Given the description of an element on the screen output the (x, y) to click on. 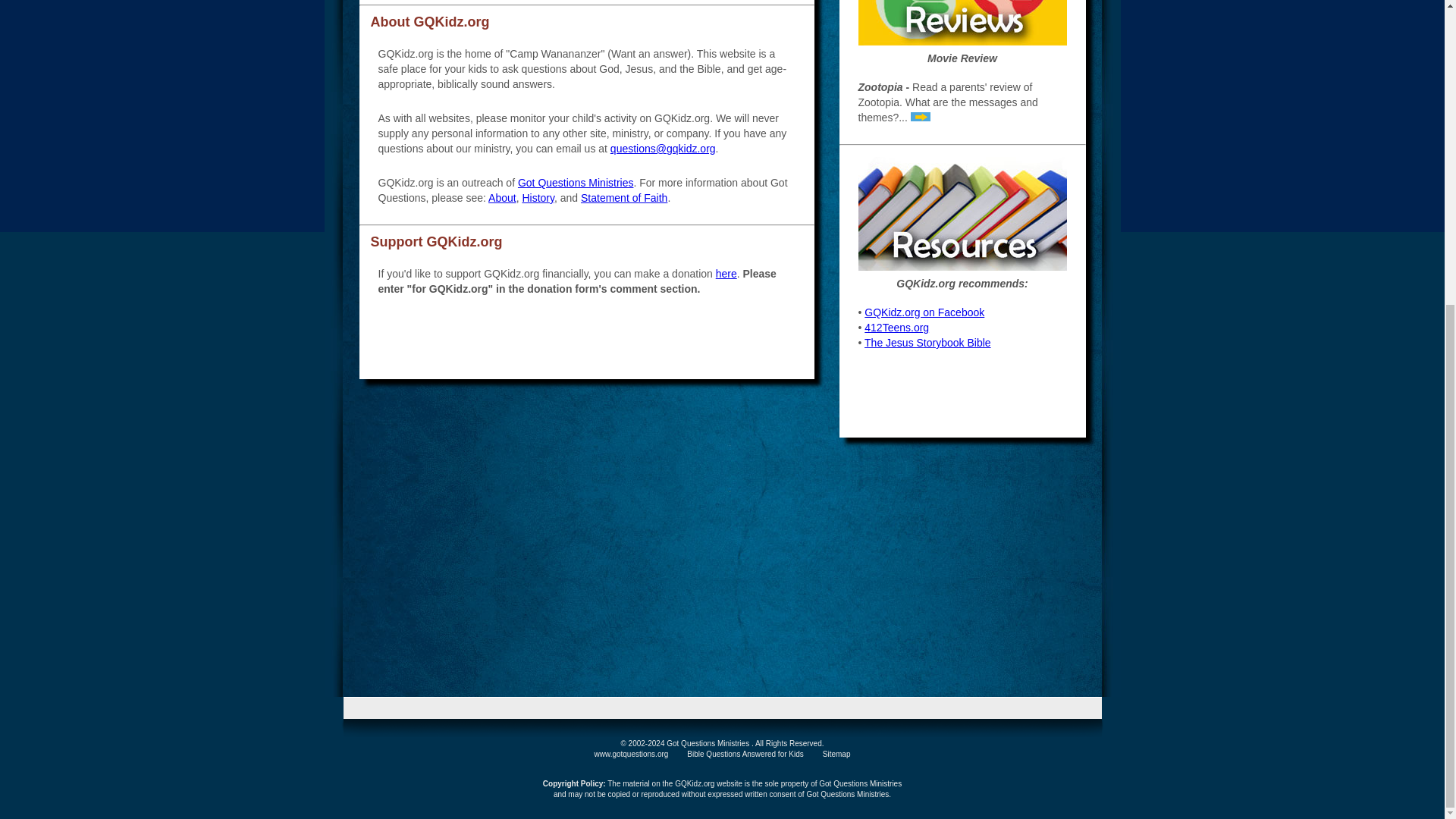
The Jesus Storybook Bible (927, 342)
Got Questions Ministries (575, 182)
www.gotquestions.org (631, 754)
GQKidz.org on Facebook (924, 312)
here (726, 273)
Statement of Faith (623, 197)
412Teens.org (896, 327)
History (537, 197)
Sitemap (836, 754)
About (501, 197)
